Given the description of an element on the screen output the (x, y) to click on. 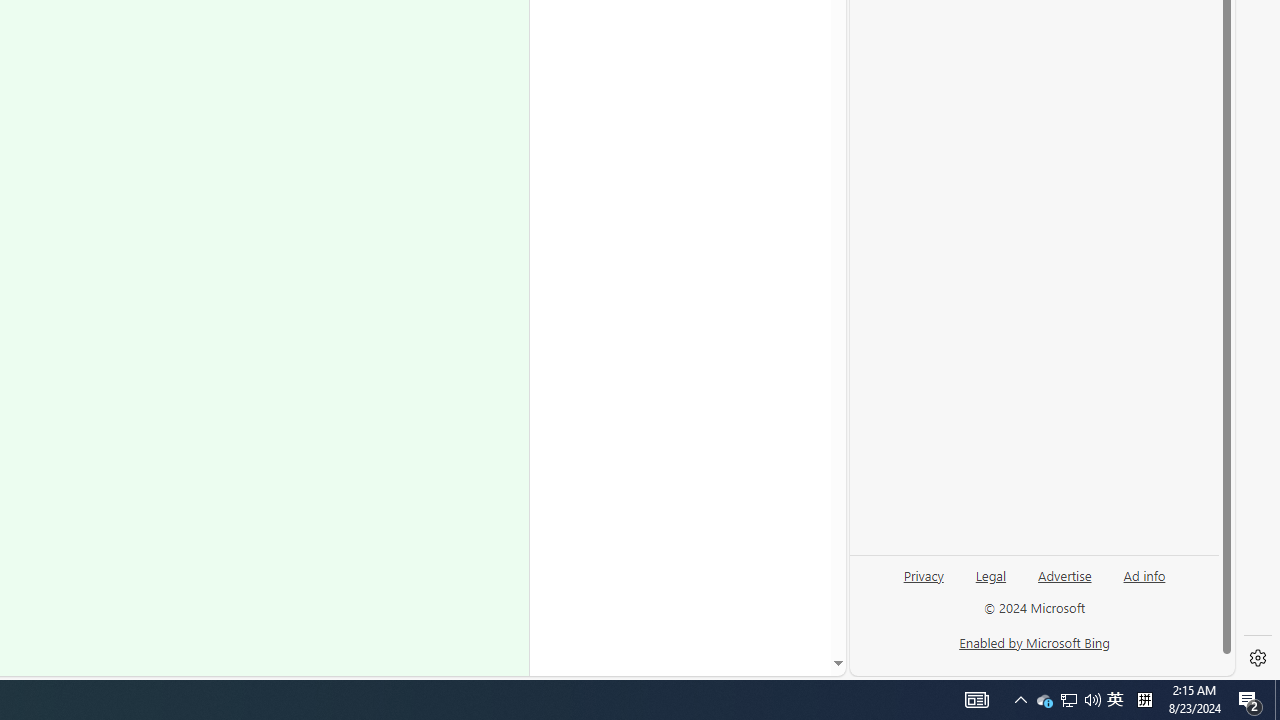
Advertise (1064, 574)
Ad info (1144, 583)
Settings (1258, 658)
Advertise (1064, 583)
Privacy (923, 574)
Legal (990, 583)
Legal (991, 574)
Privacy (923, 583)
Ad info (1144, 574)
